Given the description of an element on the screen output the (x, y) to click on. 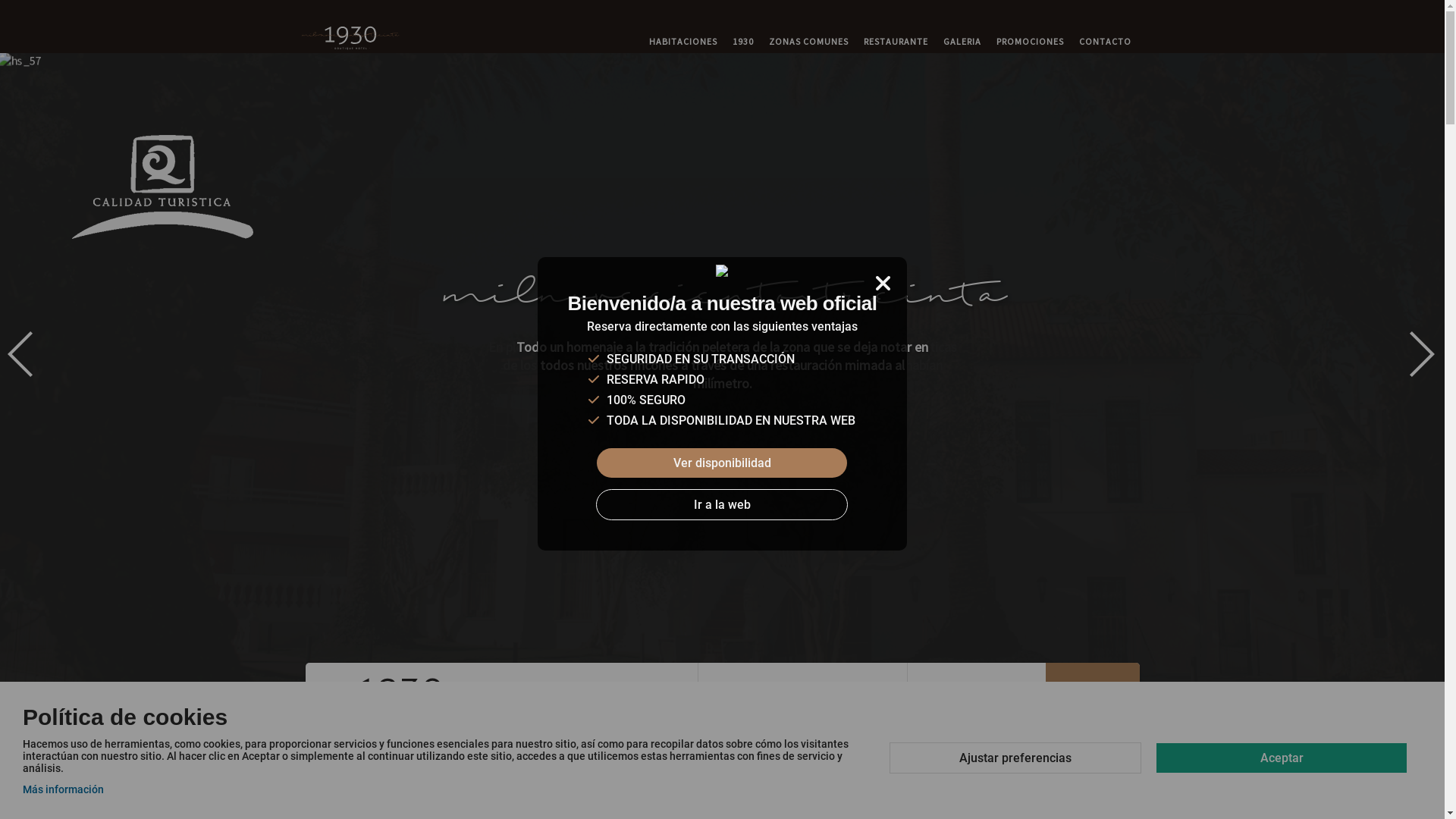
ZONAS COMUNES Element type: text (808, 41)
Ir a la web Element type: text (721, 504)
1930 Element type: text (742, 41)
Ajustar preferencias Element type: text (1015, 757)
HABITACIONES Element type: text (683, 41)
RESTAURANTE Element type: text (894, 41)
Comprobar disponibilidad Element type: text (1091, 696)
PROMOCIONES Element type: text (1029, 41)
1930 Boutique Hotel Element type: hover (350, 37)
Aceptar Element type: text (1281, 757)
CONTACTO Element type: text (1104, 41)
GALERIA Element type: text (962, 41)
Ver disponibilidad Element type: text (721, 462)
